Given the description of an element on the screen output the (x, y) to click on. 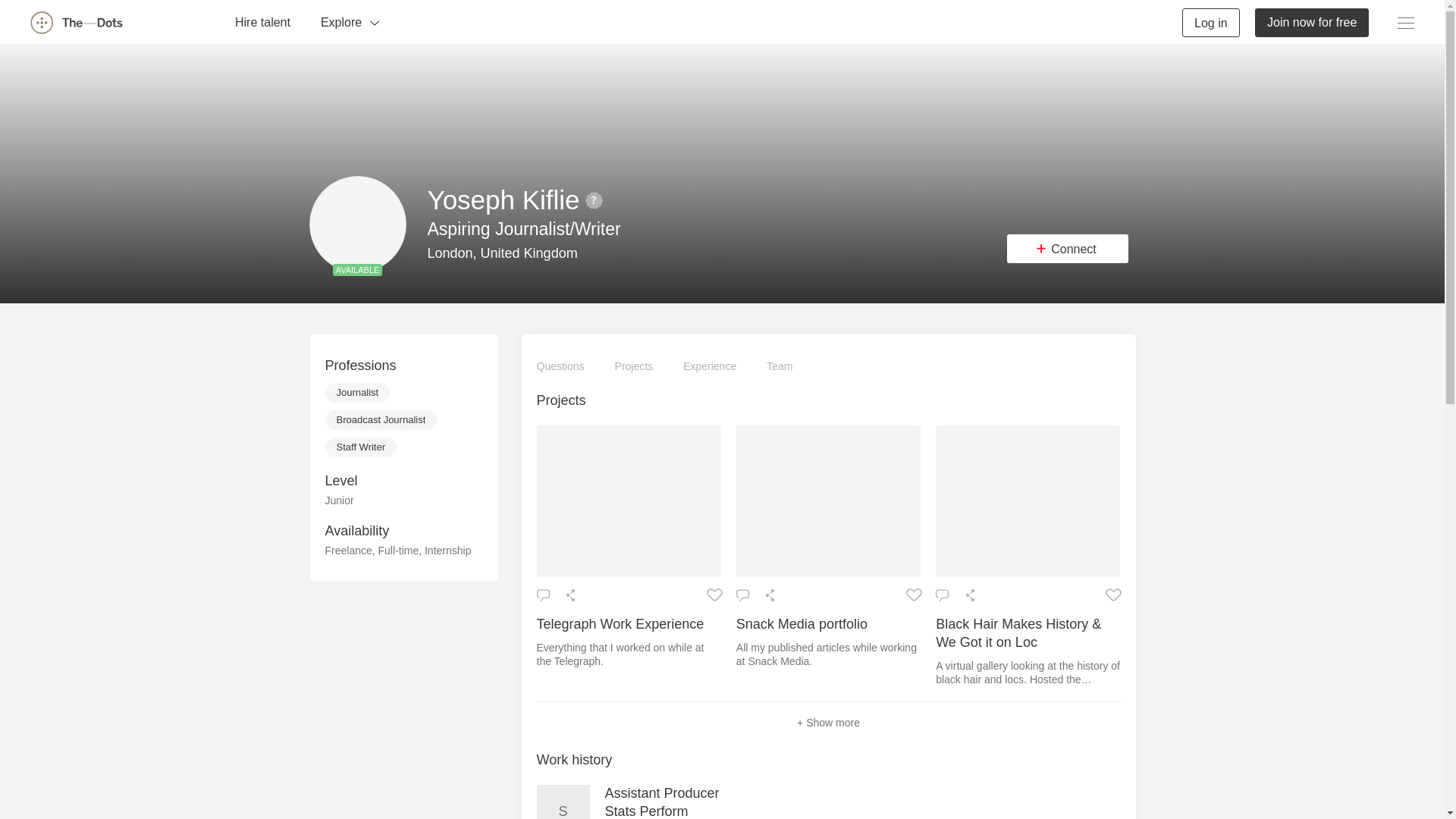
Log in (1211, 21)
Join now for free (1311, 21)
Questions (561, 366)
Connect (1067, 248)
Explore (350, 21)
Experience (709, 366)
Projects (633, 366)
Team (779, 366)
Hire talent (261, 21)
